Given the description of an element on the screen output the (x, y) to click on. 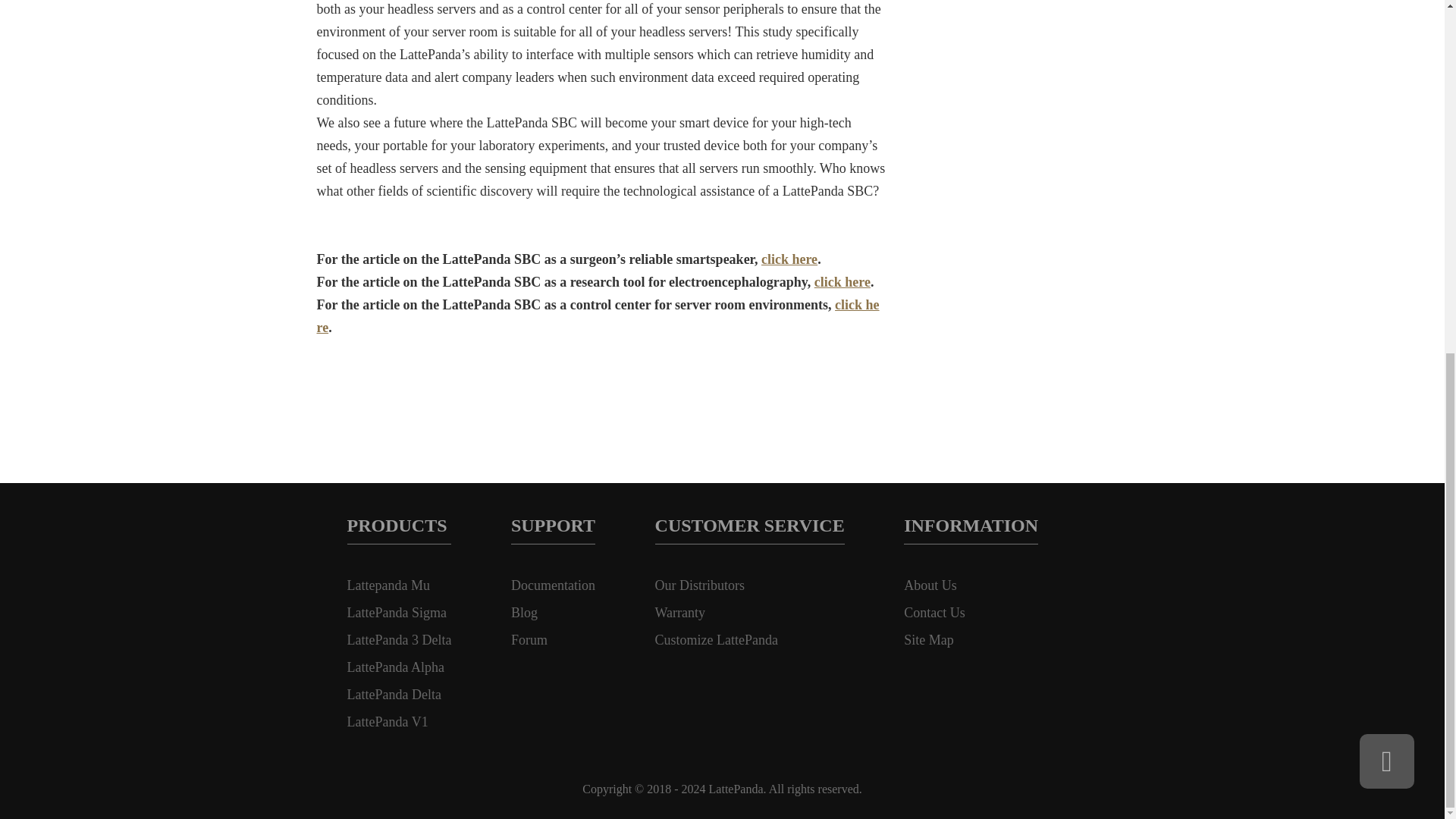
LattePanda V1 (399, 722)
Customize LattePanda (749, 640)
LattePanda Alpha (399, 667)
Blog (553, 612)
Documentation (553, 585)
Warranty (749, 612)
LattePanda Delta (399, 694)
LattePanda 3 Delta (399, 640)
click here (598, 315)
Lattepanda Mu (399, 585)
click here (788, 258)
Our Distributors (749, 585)
Contact Us (971, 612)
click here (841, 281)
Site Map (971, 640)
